Given the description of an element on the screen output the (x, y) to click on. 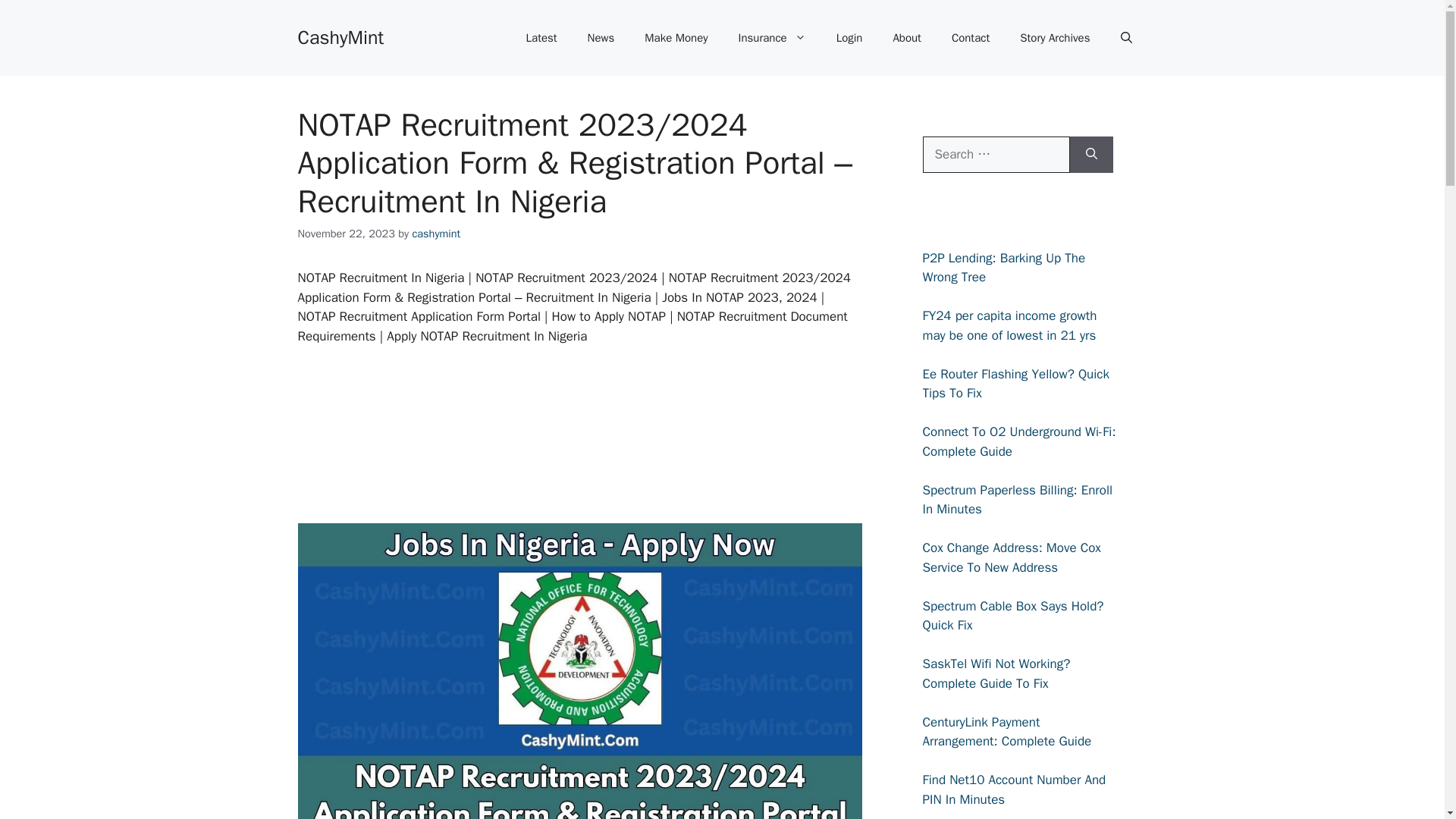
CashyMint (340, 37)
Make Money (675, 37)
News (601, 37)
cashymint (436, 233)
Story Archives (1054, 37)
View all posts by cashymint (436, 233)
Login (849, 37)
Contact (970, 37)
Latest (541, 37)
About (906, 37)
Insurance (772, 37)
Search for: (994, 154)
